Given the description of an element on the screen output the (x, y) to click on. 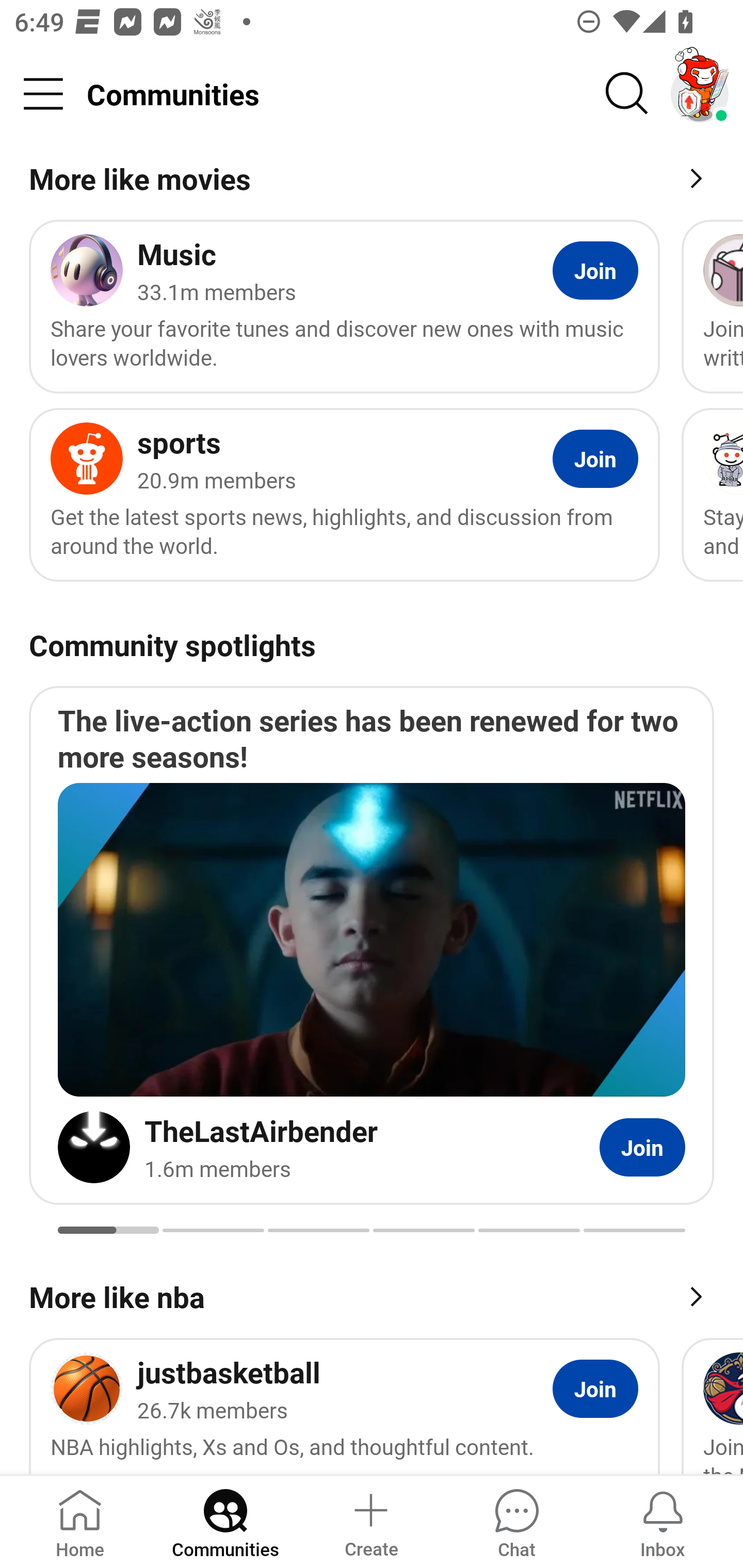
Community menu (43, 93)
Search (626, 93)
TestAppium002 account (699, 93)
More like movies View more (371, 181)
More like nba View more (371, 1294)
Home (80, 1520)
Communities (225, 1520)
Create a post Create (370, 1520)
Chat (516, 1520)
Inbox (662, 1520)
